Given the description of an element on the screen output the (x, y) to click on. 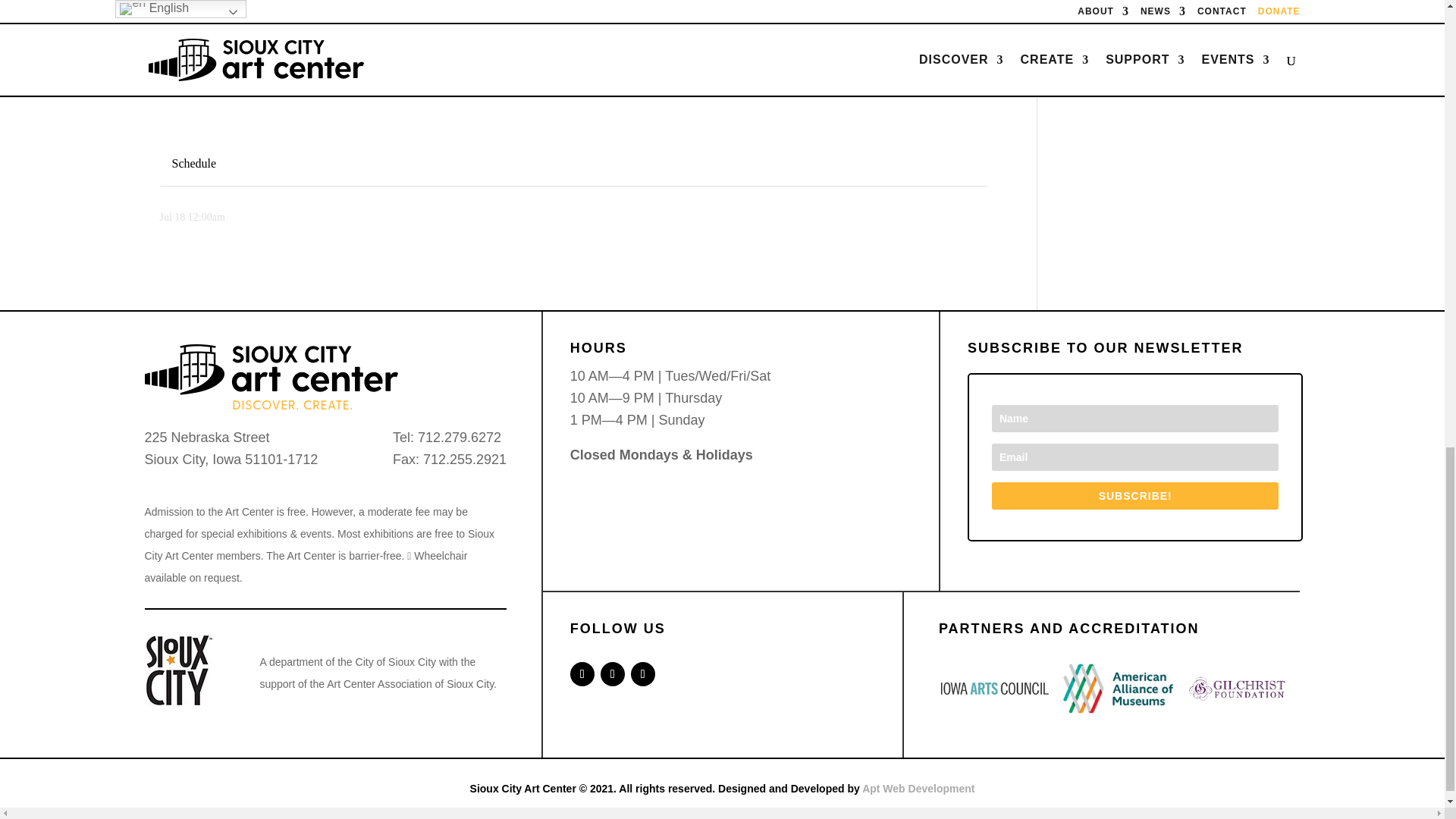
Follow on Youtube (642, 673)
Follow on Instagram (611, 673)
Follow on Facebook (582, 673)
